Given the description of an element on the screen output the (x, y) to click on. 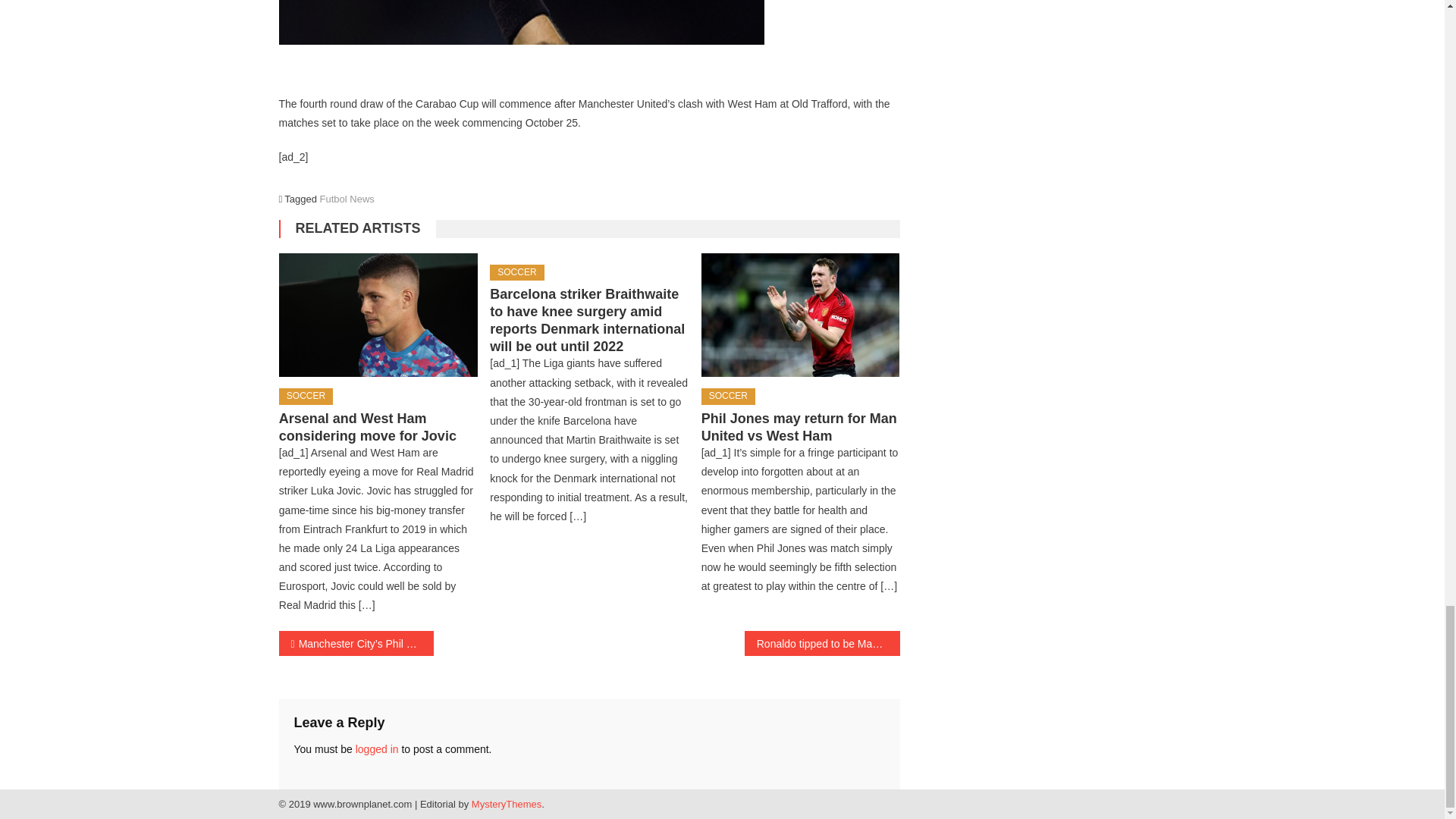
Phil Jones may return for Man United vs West Ham (798, 427)
SOCCER (516, 272)
SOCCER (728, 396)
Arsenal and West Ham considering move for Jovic (378, 315)
Futbol News (347, 198)
Arsenal and West Ham considering move for Jovic (368, 427)
SOCCER (306, 396)
Phil Jones may return for Man United vs West Ham (800, 315)
